Given the description of an element on the screen output the (x, y) to click on. 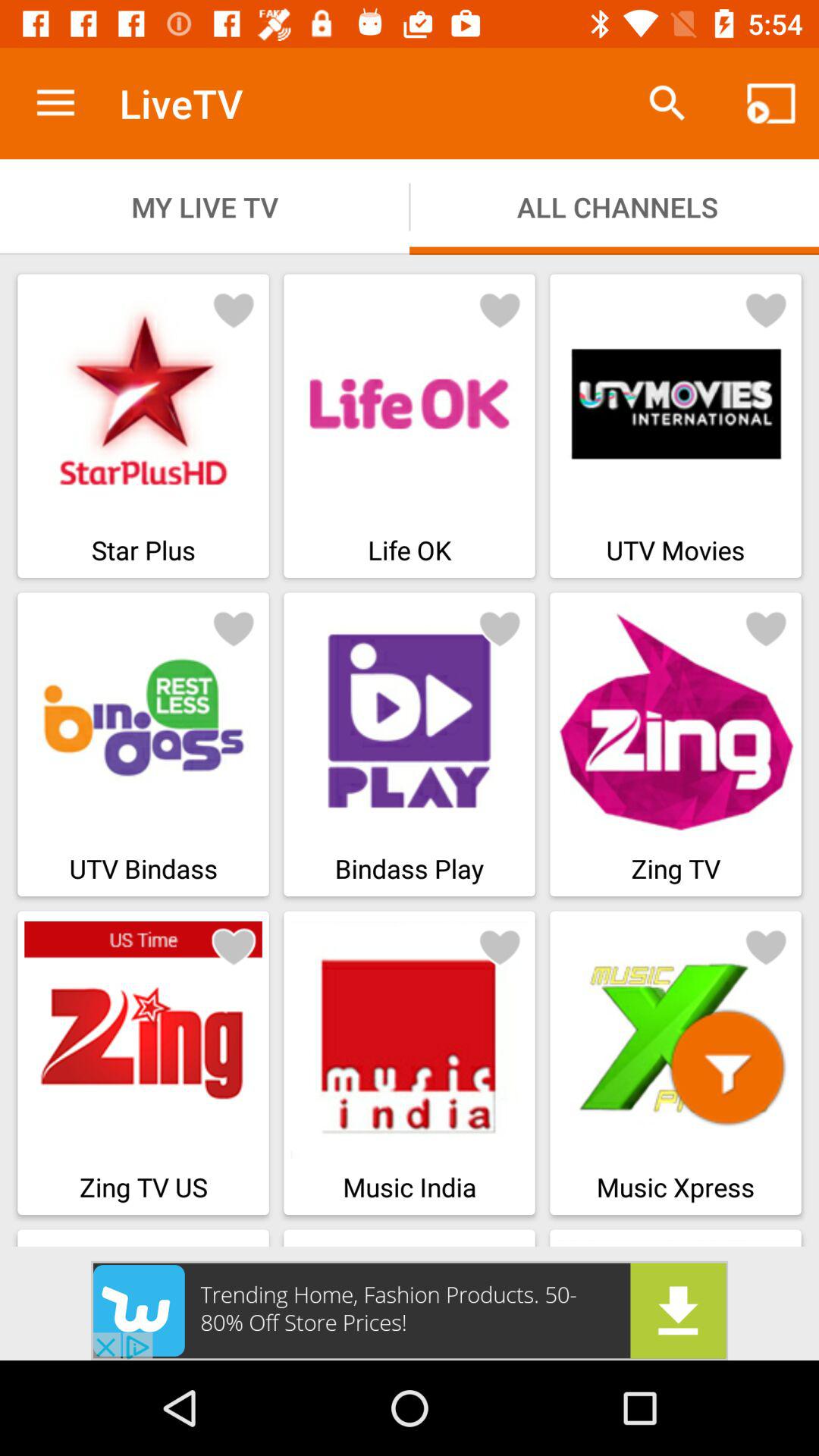
like page (499, 627)
